Given the description of an element on the screen output the (x, y) to click on. 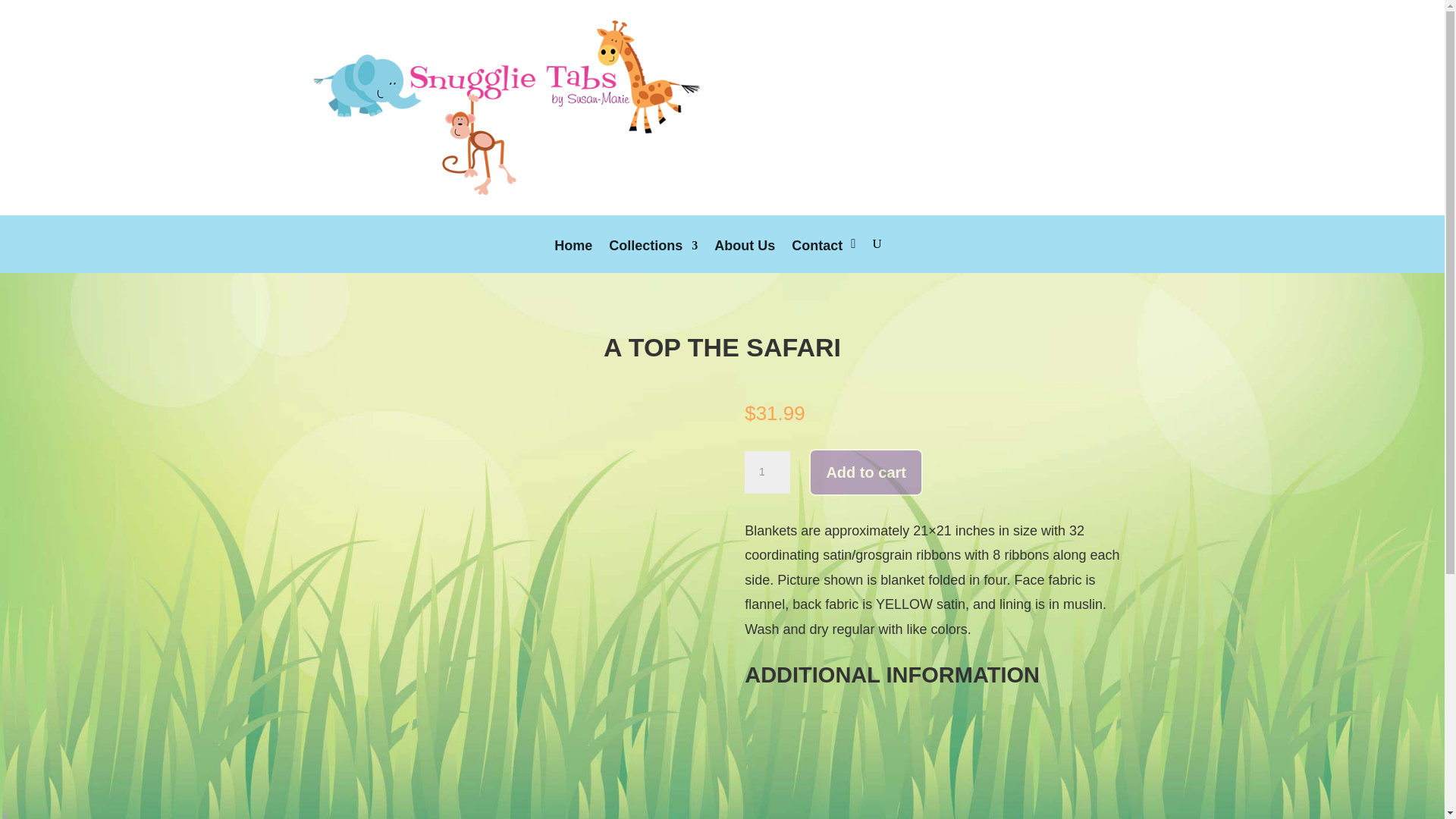
Collections (652, 256)
About Us (744, 256)
1 (767, 472)
Add to cart (866, 472)
Contact (817, 256)
Home (573, 256)
